Given the description of an element on the screen output the (x, y) to click on. 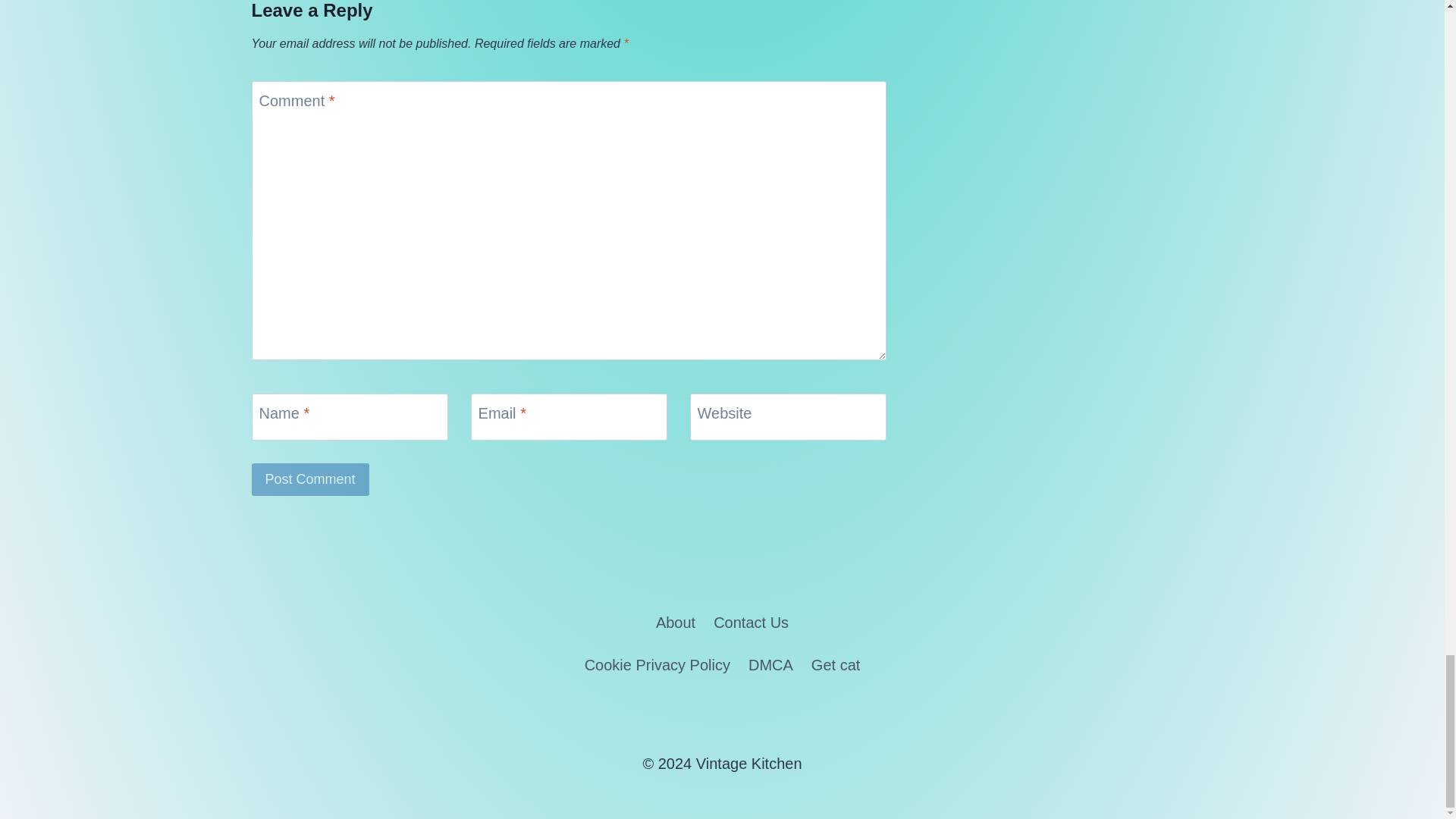
Cookie Privacy Policy (657, 665)
Contact Us (750, 622)
DMCA (770, 665)
Post Comment (310, 479)
Post Comment (310, 479)
Get cat (835, 665)
About (675, 622)
